Given the description of an element on the screen output the (x, y) to click on. 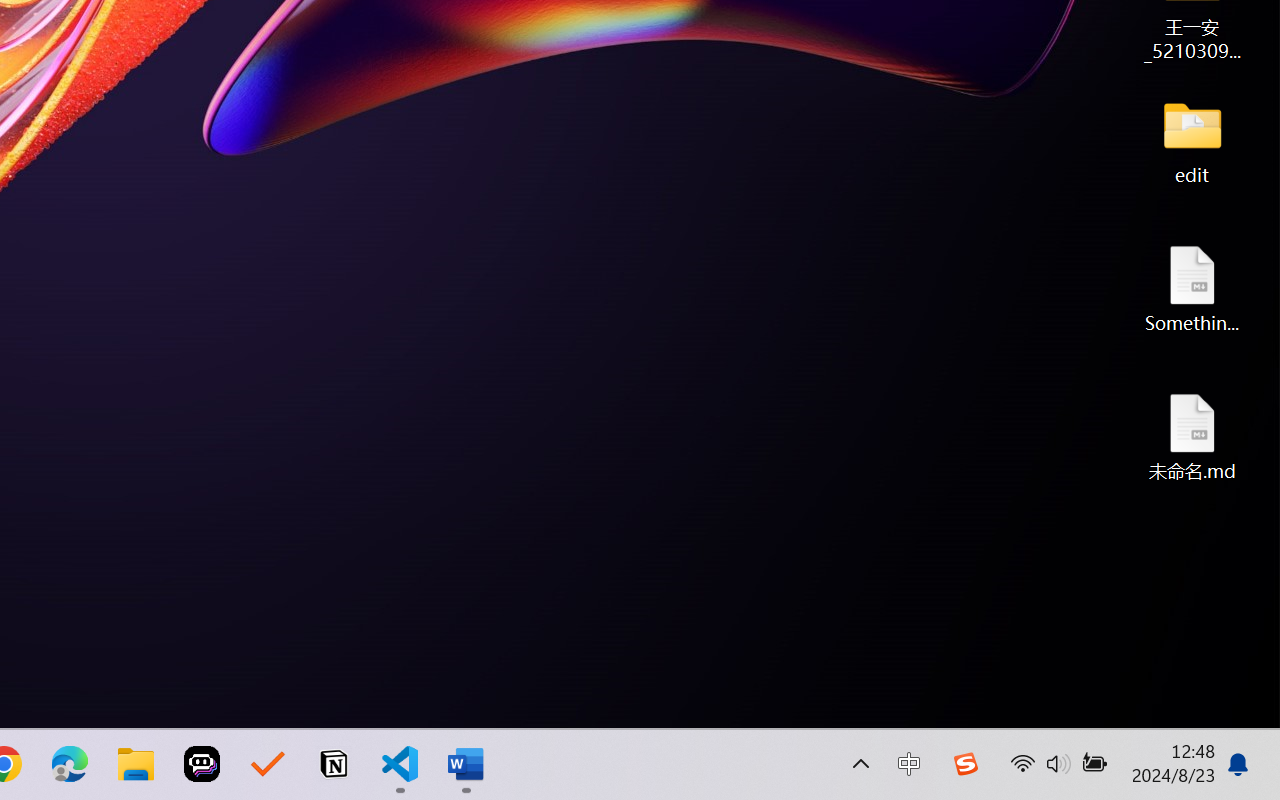
edit (1192, 140)
